Given the description of an element on the screen output the (x, y) to click on. 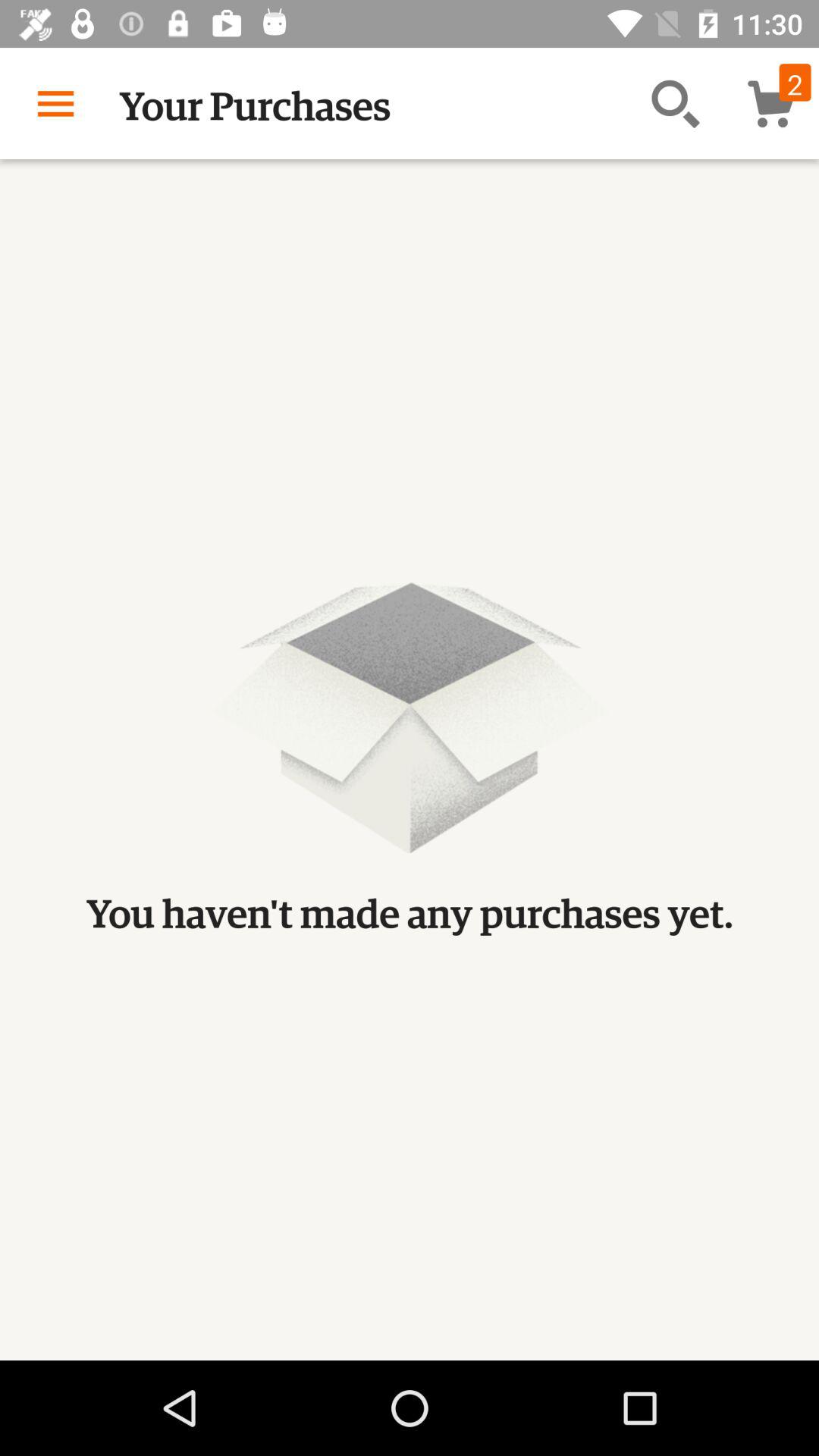
tap the item next to the your purchases app (675, 103)
